Given the description of an element on the screen output the (x, y) to click on. 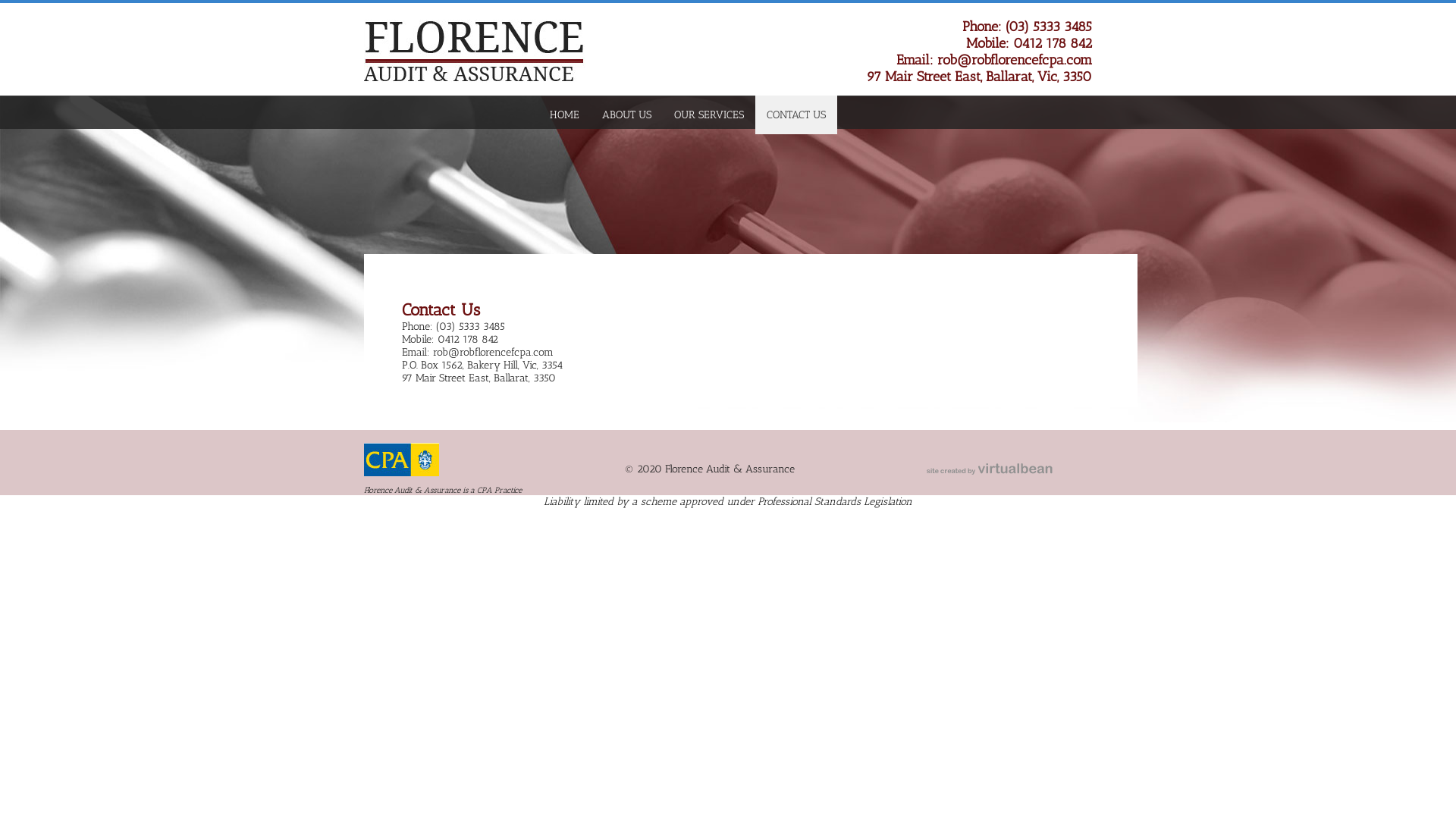
HOME Element type: text (564, 114)
ABOUT US Element type: text (626, 114)
rob@robflorencefcpa.com Element type: text (493, 351)
CONTACT US Element type: text (796, 114)
OUR SERVICES Element type: text (708, 114)
rob@robflorencefcpa.com Element type: text (1014, 59)
